Given the description of an element on the screen output the (x, y) to click on. 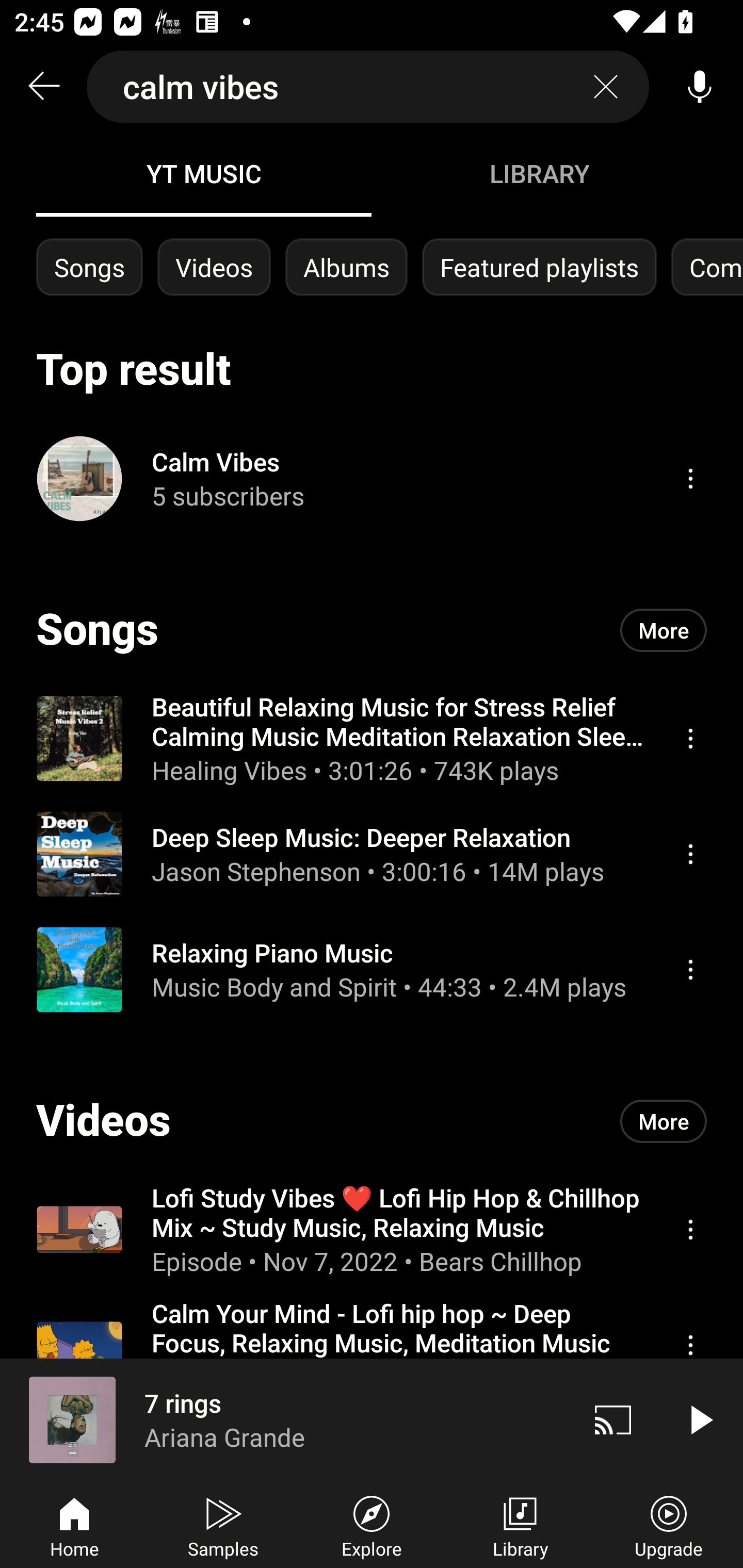
Search back (43, 86)
calm vibes (367, 86)
Clear search (605, 86)
Voice search (699, 86)
Library LIBRARY (538, 173)
Menu (690, 478)
Songs More More (371, 630)
More (663, 630)
Menu (690, 738)
Menu (690, 854)
Menu (690, 968)
Videos More More (371, 1120)
More (663, 1121)
Menu (690, 1229)
Menu (690, 1345)
7 rings Ariana Grande (284, 1419)
Cast. Disconnected (612, 1419)
Play video (699, 1419)
Home (74, 1524)
Samples (222, 1524)
Explore (371, 1524)
Library (519, 1524)
Upgrade (668, 1524)
